Given the description of an element on the screen output the (x, y) to click on. 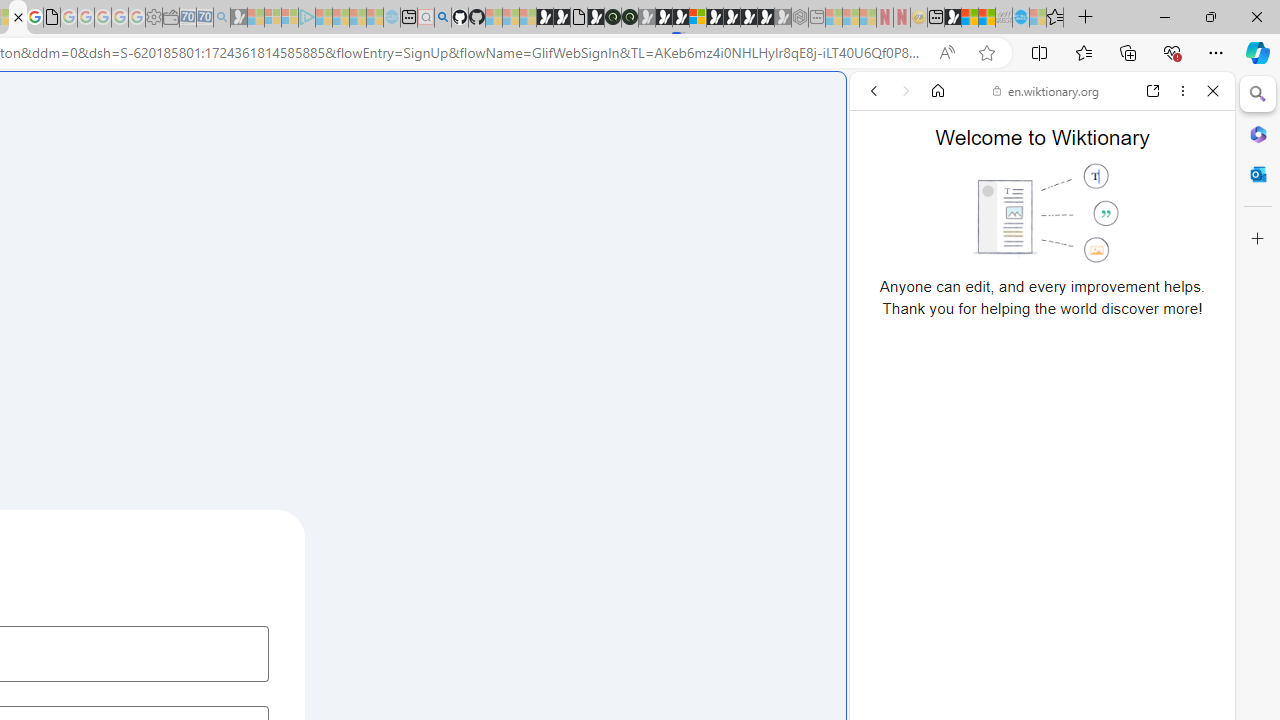
github - Search (442, 17)
Wiktionary (1034, 669)
Tabs you've opened (276, 265)
